Given the description of an element on the screen output the (x, y) to click on. 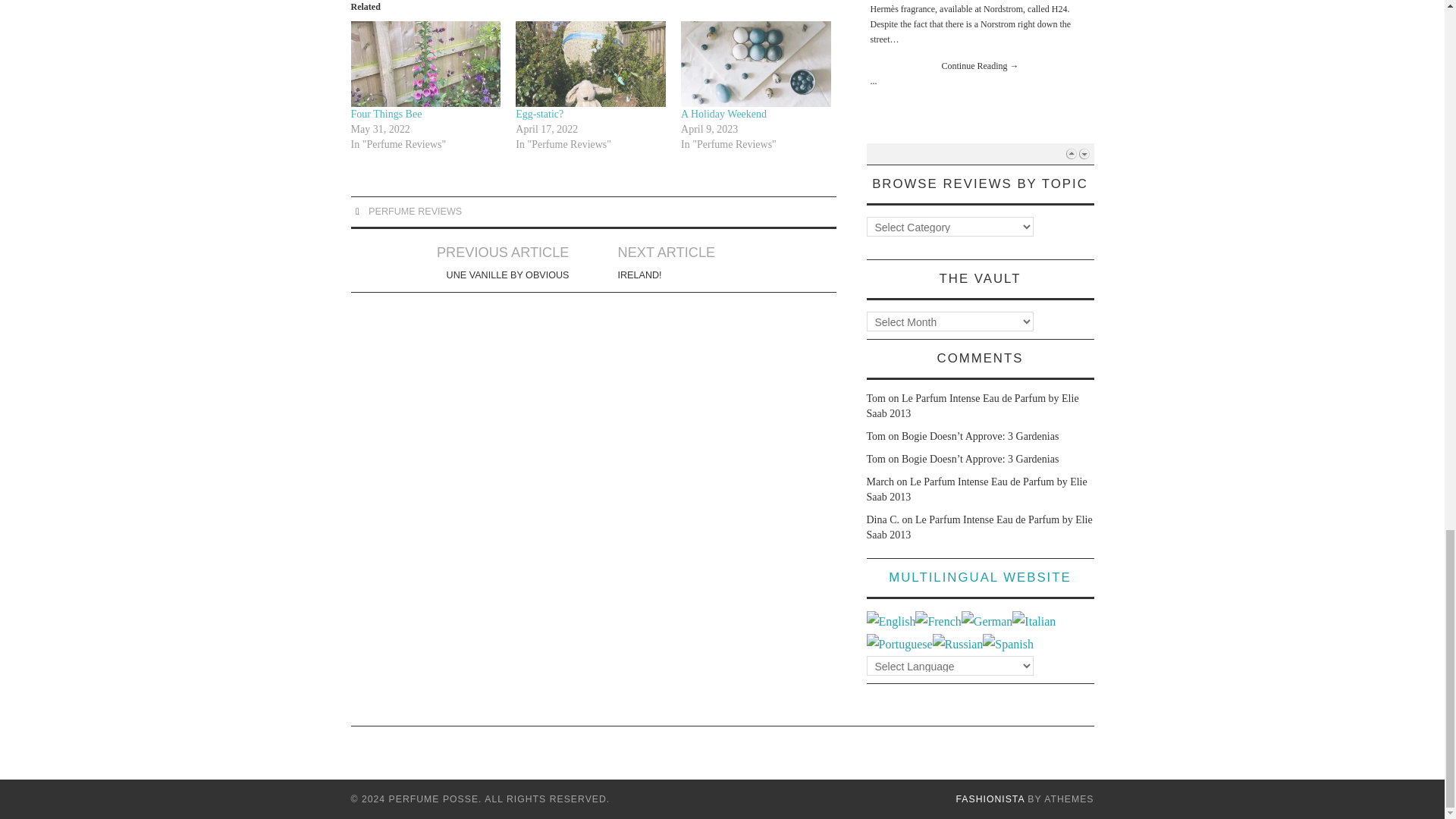
UNE VANILLE BY OBVIOUS (979, 153)
PERFUME REVIEWS (507, 274)
Four Things Bee (414, 211)
A Holiday Weekend (386, 113)
Egg-static? (756, 64)
A Holiday Weekend (590, 64)
Egg-static? (724, 113)
A Holiday Weekend (539, 113)
Egg-static? (724, 113)
Four Things Bee (539, 113)
Four Things Bee (386, 113)
IRELAND! (425, 64)
